Given the description of an element on the screen output the (x, y) to click on. 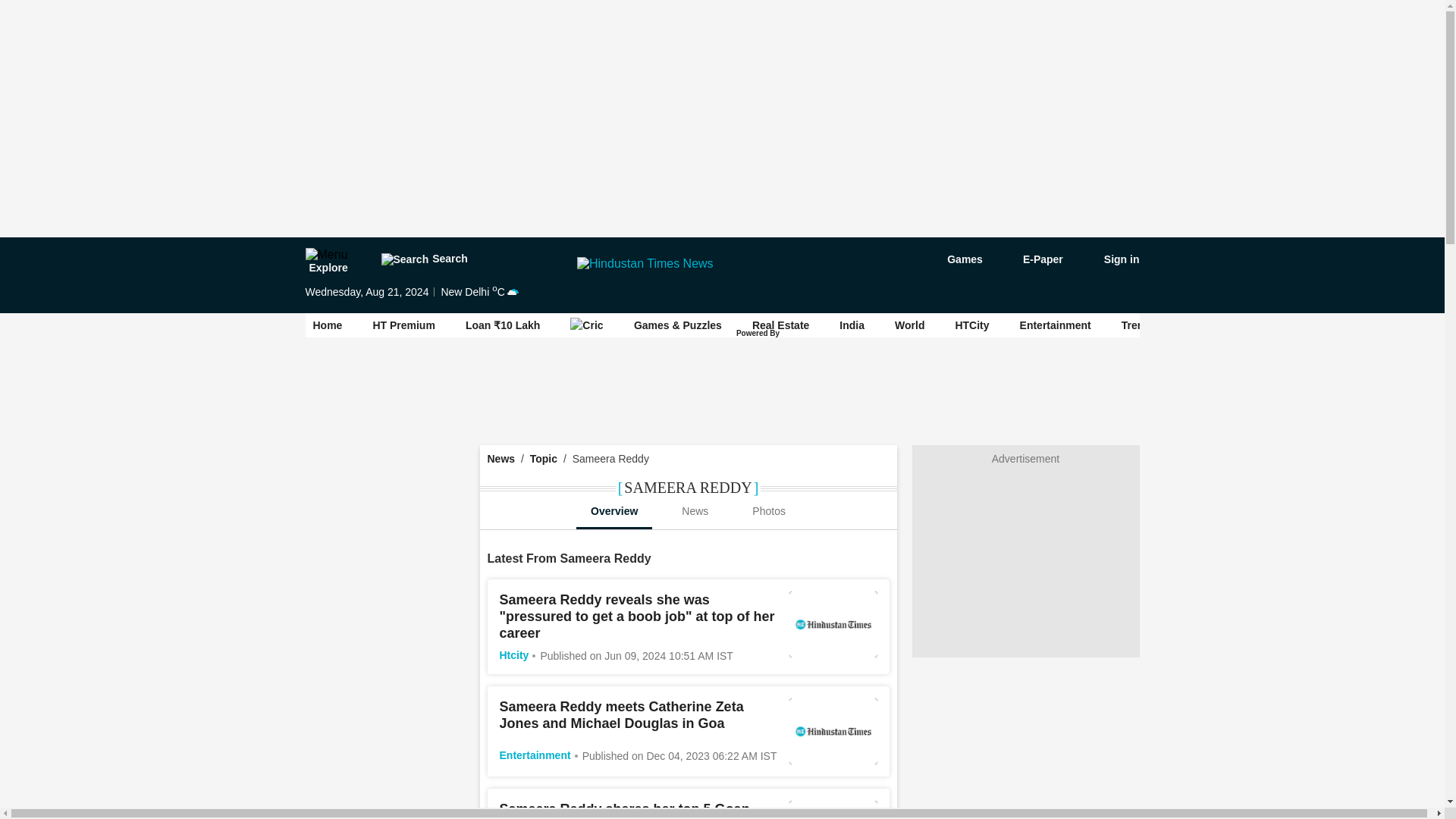
Astrology (1221, 325)
HTCity (971, 325)
Home (327, 325)
Real Estate (780, 324)
Sameera Reddy shares her top 5 Goan food picks (624, 810)
Htcity (513, 654)
Entertainment (534, 755)
Powered By (758, 333)
World (909, 325)
